Given the description of an element on the screen output the (x, y) to click on. 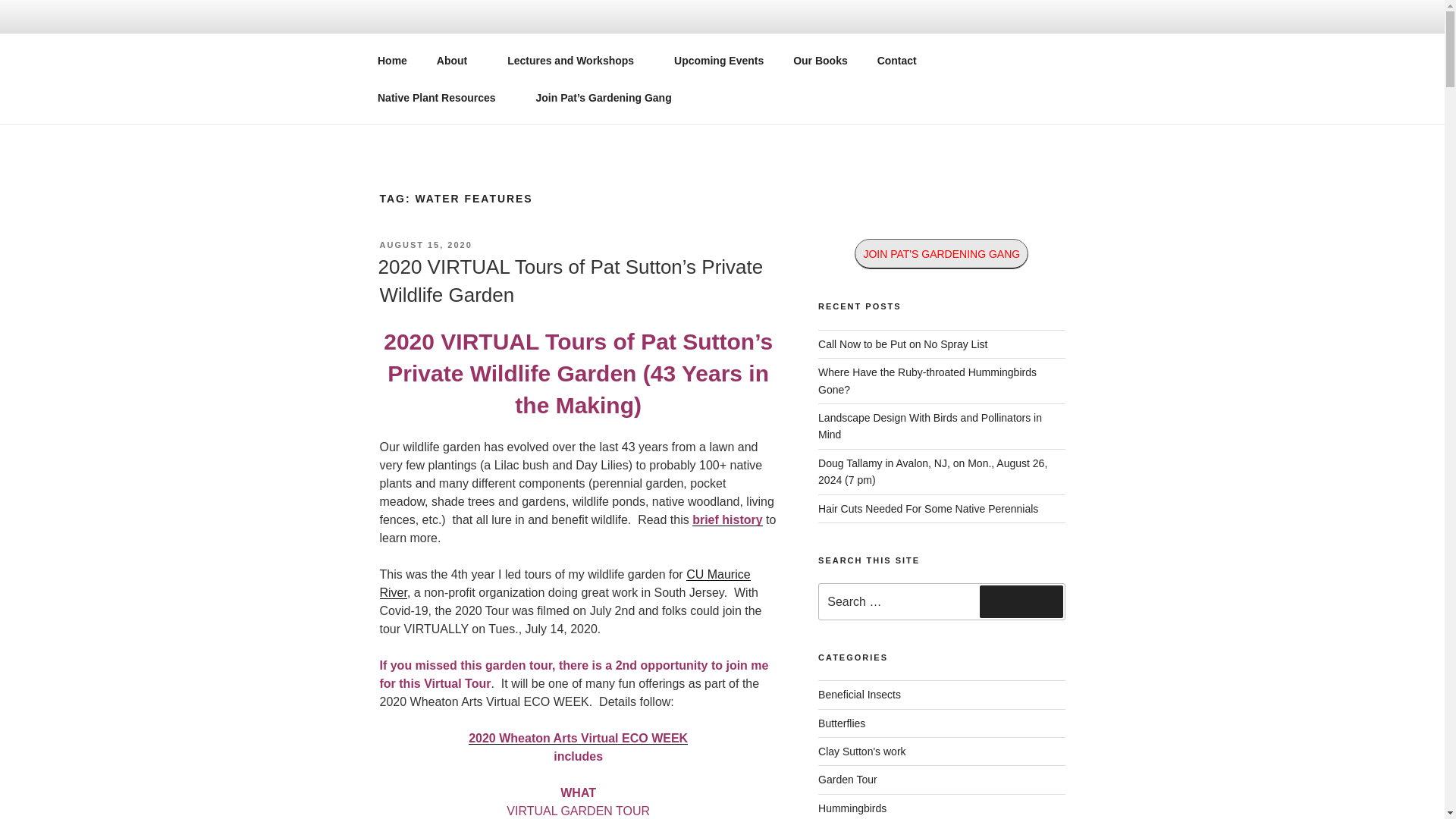
Upcoming Events (719, 60)
About (456, 60)
Lectures and Workshops (576, 60)
Native Plant Resources (441, 97)
PAT SUTTON'S WILDLIFE GARDEN (637, 52)
Our Books (820, 60)
Native Plant Resources (392, 60)
Home (392, 60)
Contact (896, 60)
